Given the description of an element on the screen output the (x, y) to click on. 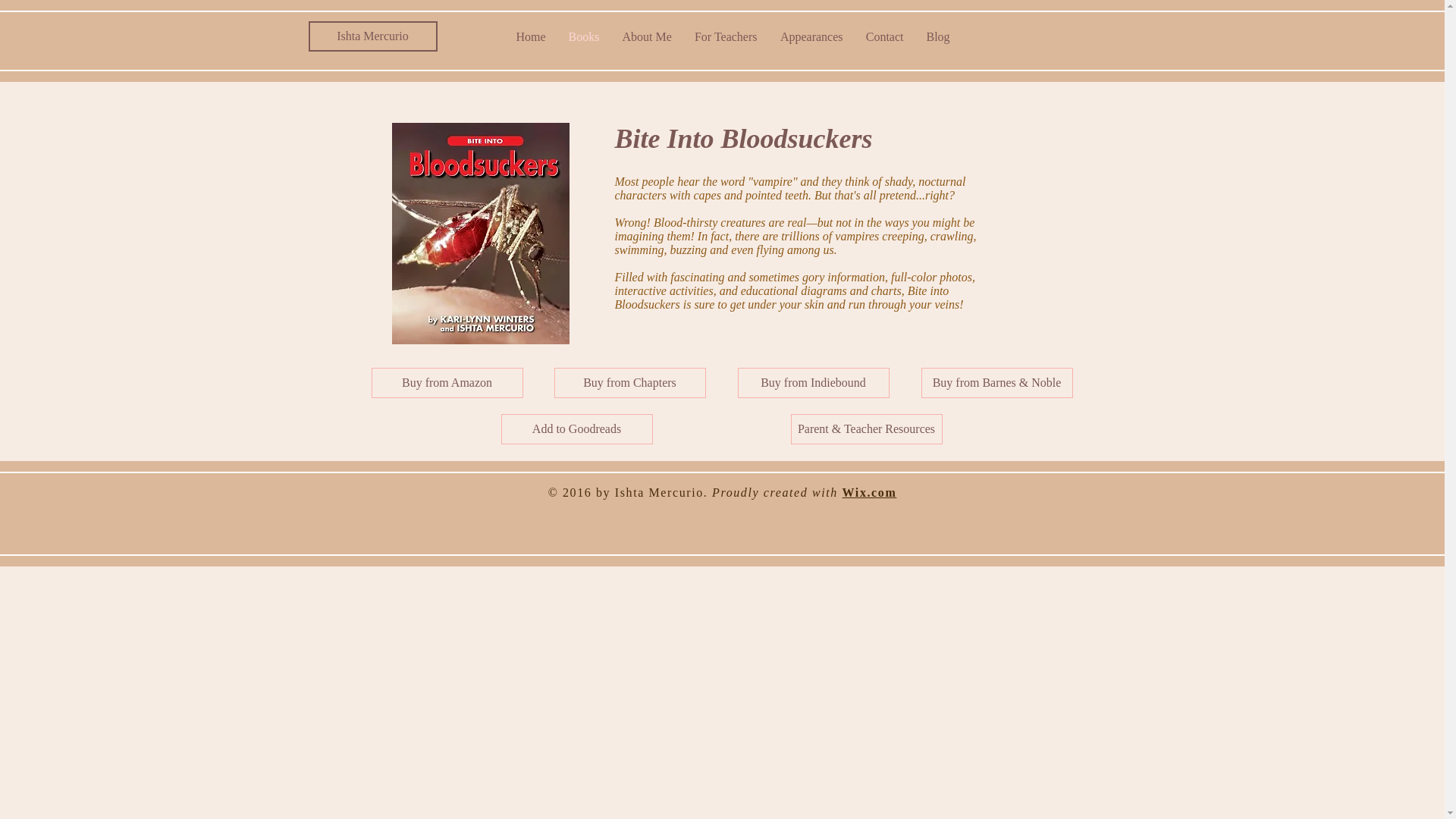
Buy from Amazon (446, 382)
Appearances (811, 36)
Wix.com (869, 492)
Home (531, 36)
Buy from Chapters (628, 382)
About Me (646, 36)
Books (583, 36)
For Teachers (725, 36)
Ishta Mercurio (371, 36)
Contact (883, 36)
